Given the description of an element on the screen output the (x, y) to click on. 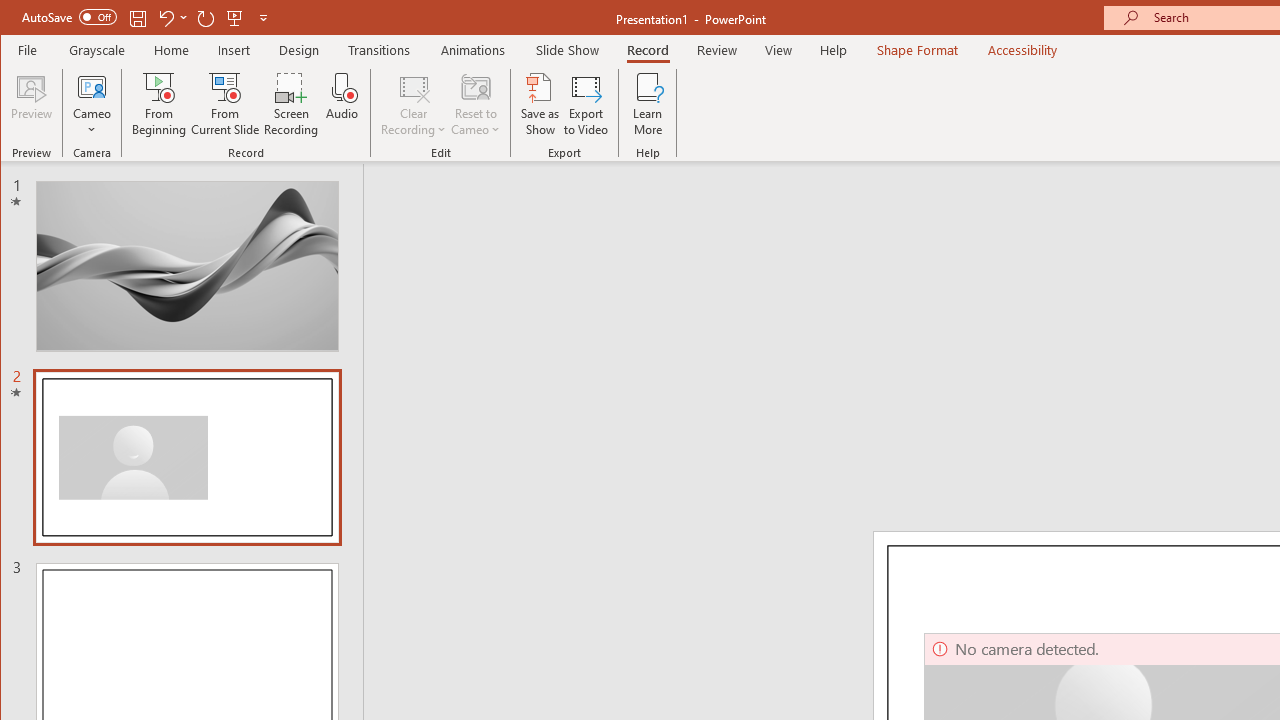
Grayscale (97, 50)
Cameo (91, 104)
Preview (31, 104)
Screen Recording (291, 104)
Cameo (91, 86)
Save as Show (539, 104)
Audio (342, 104)
Shape Format (916, 50)
